Given the description of an element on the screen output the (x, y) to click on. 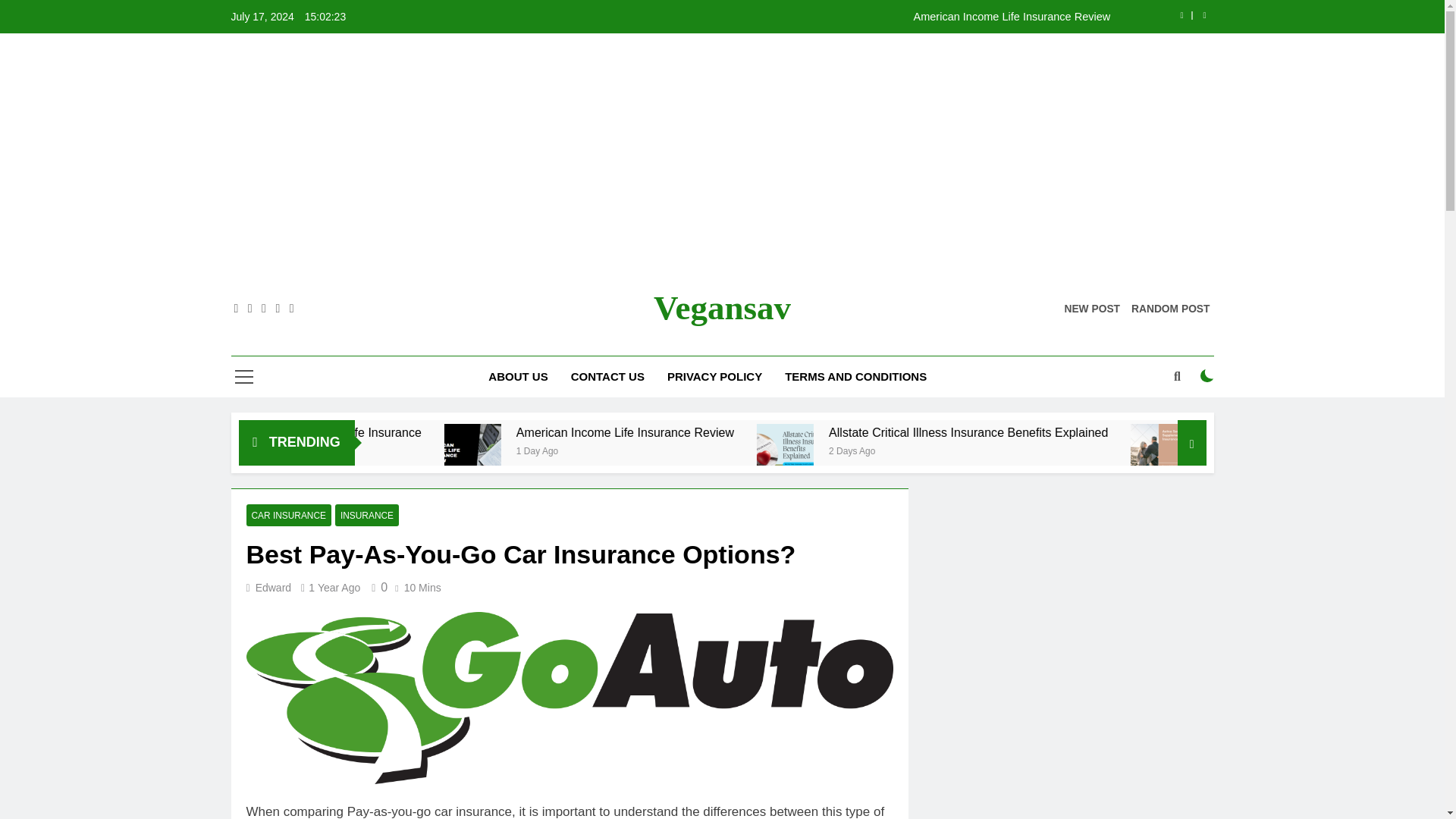
CONTACT US (607, 376)
ABOUT US (518, 376)
How to Choose the Right Auto Life Insurance (496, 432)
1 Day Ago (725, 449)
PRIVACY POLICY (714, 376)
NEW POST (1091, 308)
on (1206, 376)
Allstate Critical Illness Insurance Benefits Explained (1148, 432)
2 Days Ago (1029, 449)
RANDOM POST (1170, 308)
American Income Life Insurance Review (814, 432)
American Income Life Insurance Review (771, 432)
TERMS AND CONDITIONS (855, 376)
Vegansav (721, 307)
